Given the description of an element on the screen output the (x, y) to click on. 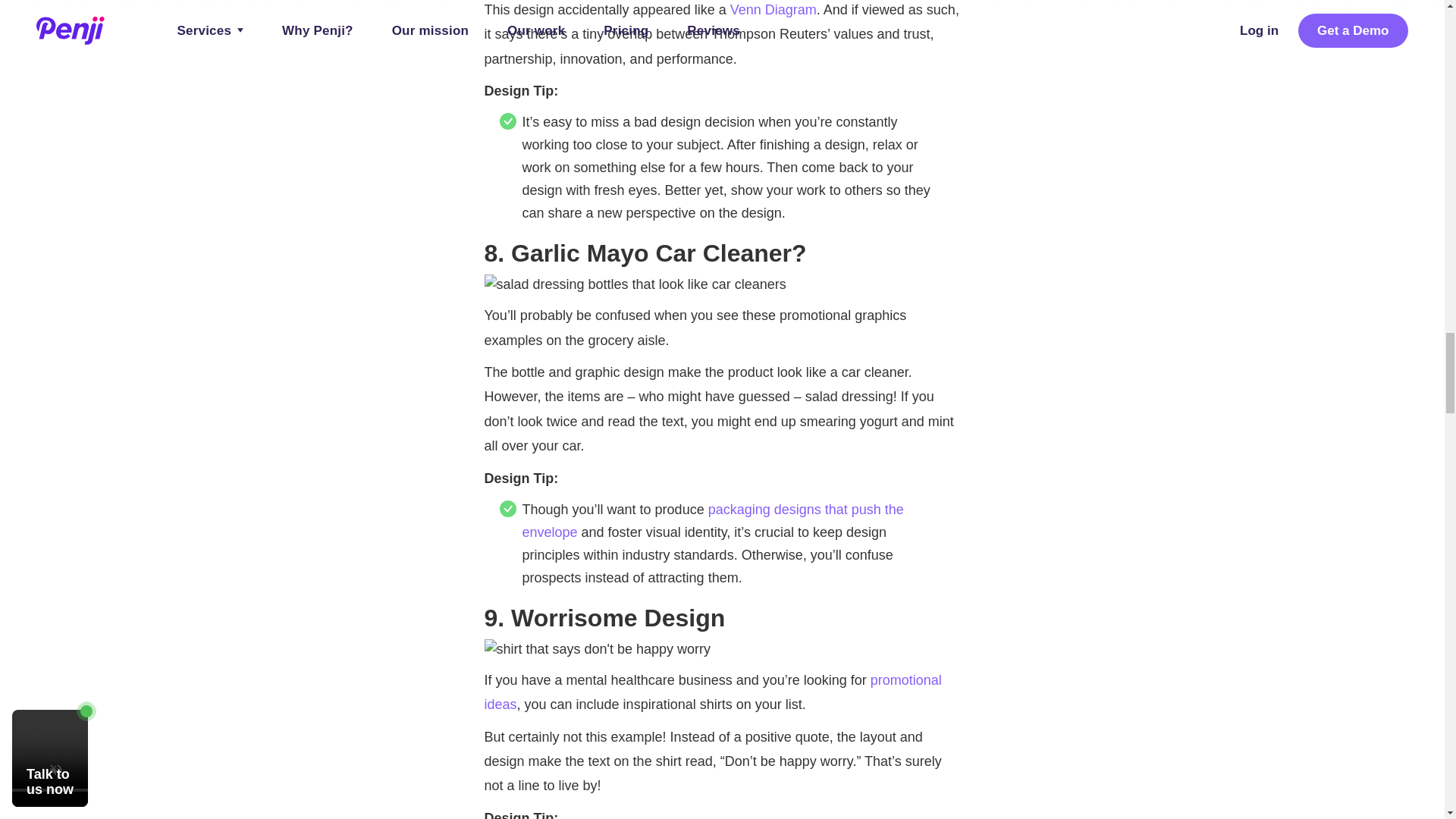
Venn Diagram (773, 9)
packaging designs that push the envelope (711, 520)
promotional ideas (711, 691)
